Given the description of an element on the screen output the (x, y) to click on. 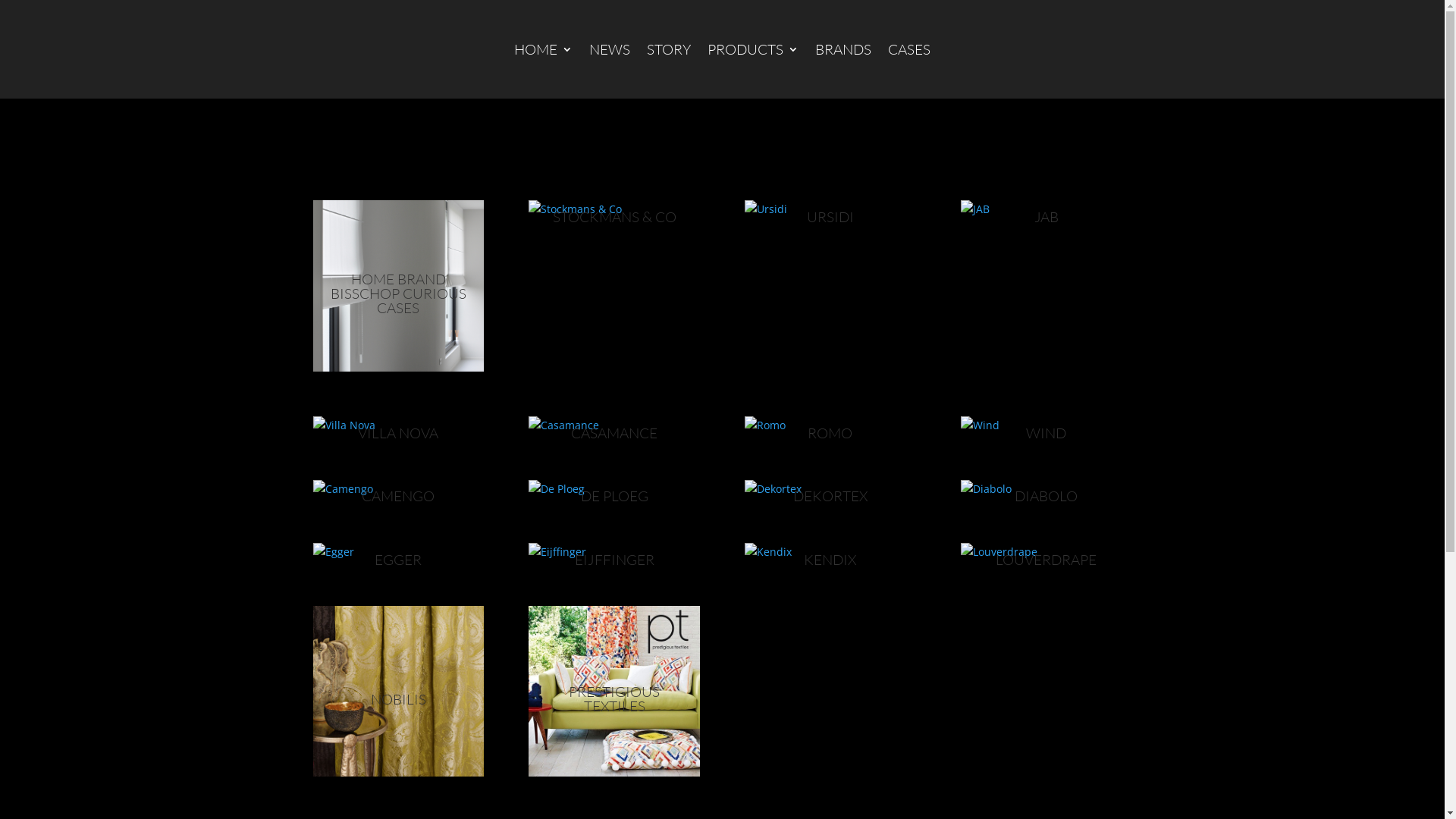
ROMO Element type: text (829, 432)
JAB Element type: hover (1045, 209)
Wind Element type: hover (1045, 425)
EGGER Element type: text (397, 558)
LOUVERDRAPE Element type: text (1045, 558)
JAB Element type: text (1046, 216)
Romo Element type: hover (829, 425)
DEKORTEX Element type: text (830, 495)
STOCKMANS & CO Element type: text (614, 216)
Dekortex Element type: hover (829, 488)
De Ploeg Element type: hover (613, 488)
VILLA NOVA Element type: text (397, 432)
DE PLOEG Element type: text (614, 495)
Home brand BISSCHOP curious cases Element type: hover (397, 285)
CAMENGO Element type: text (397, 495)
KENDIX Element type: text (829, 558)
Louverdrape Element type: hover (1045, 551)
Egger Element type: hover (397, 551)
STORY Element type: text (668, 49)
BRANDS Element type: text (843, 49)
Stockmans & Co Element type: hover (613, 209)
URSIDI Element type: text (829, 216)
HOME BRAND BISSCHOP CURIOUS CASES Element type: text (398, 292)
Villa Nova Element type: hover (397, 425)
Camengo Element type: hover (397, 488)
CASES Element type: text (909, 49)
Eijffinger Element type: hover (613, 551)
EIJFFINGER Element type: text (614, 558)
Kendix Element type: hover (829, 551)
PRESTIGIOUS TEXTILES Element type: text (613, 698)
Prestigious Textiles Element type: hover (613, 690)
Casamance Element type: hover (613, 425)
NEWS Element type: text (609, 49)
Ursidi Element type: hover (829, 209)
DIABOLO Element type: text (1045, 495)
PRODUCTS Element type: text (752, 49)
CASAMANCE Element type: text (614, 432)
WIND Element type: text (1046, 432)
Diabolo Element type: hover (1045, 488)
HOME Element type: text (543, 49)
NOBILIS Element type: text (398, 698)
Nobilis Element type: hover (397, 690)
